Given the description of an element on the screen output the (x, y) to click on. 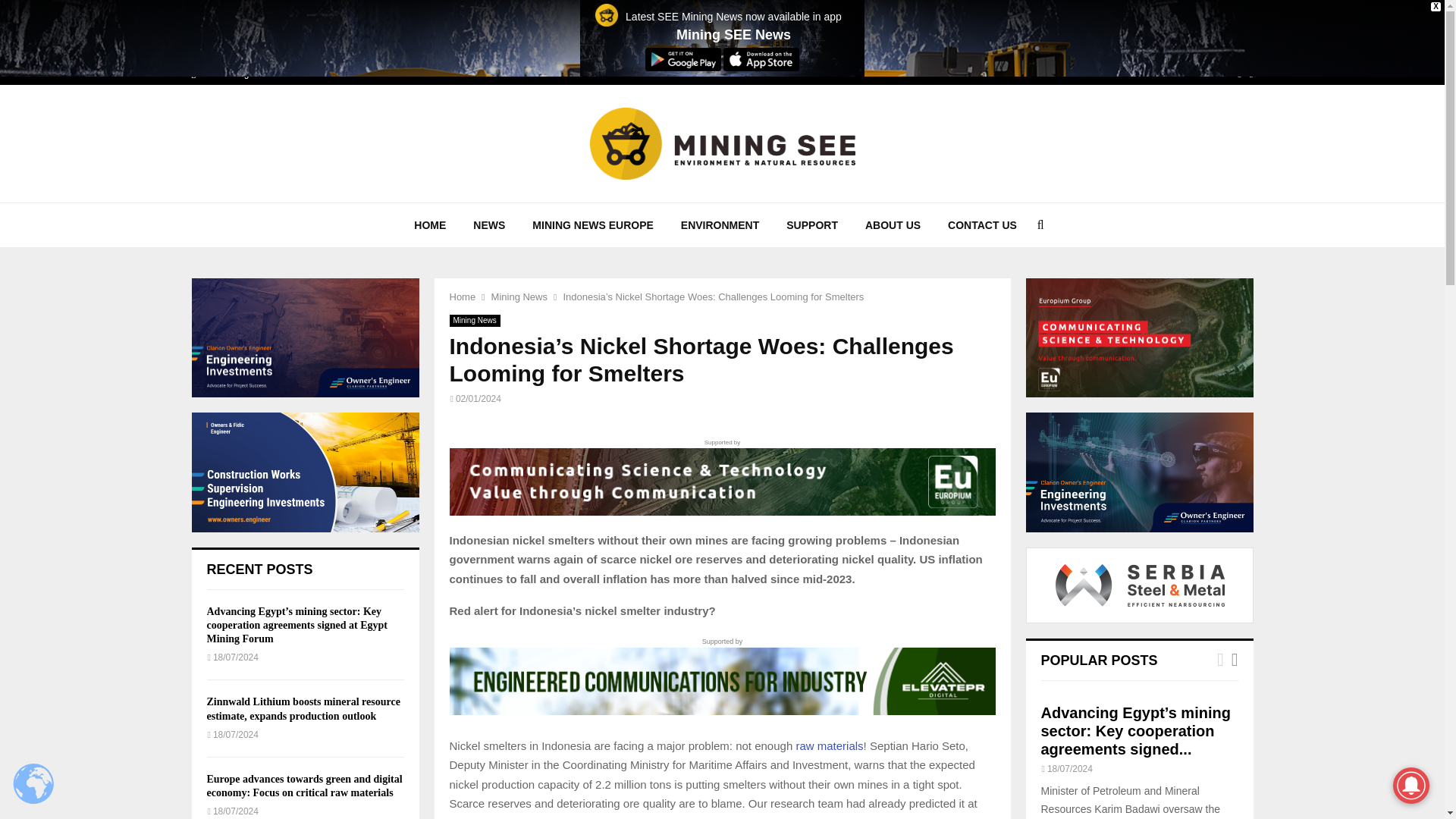
ABOUT US (892, 225)
CONTACT US (982, 225)
Mining News (519, 296)
Mining News (473, 320)
HOME (430, 225)
NEWS (489, 225)
Supported by (721, 476)
ENVIRONMENT (719, 225)
Home (462, 296)
SUPPORT (812, 225)
MINING NEWS EUROPE (592, 225)
raw materials (828, 745)
